Given the description of an element on the screen output the (x, y) to click on. 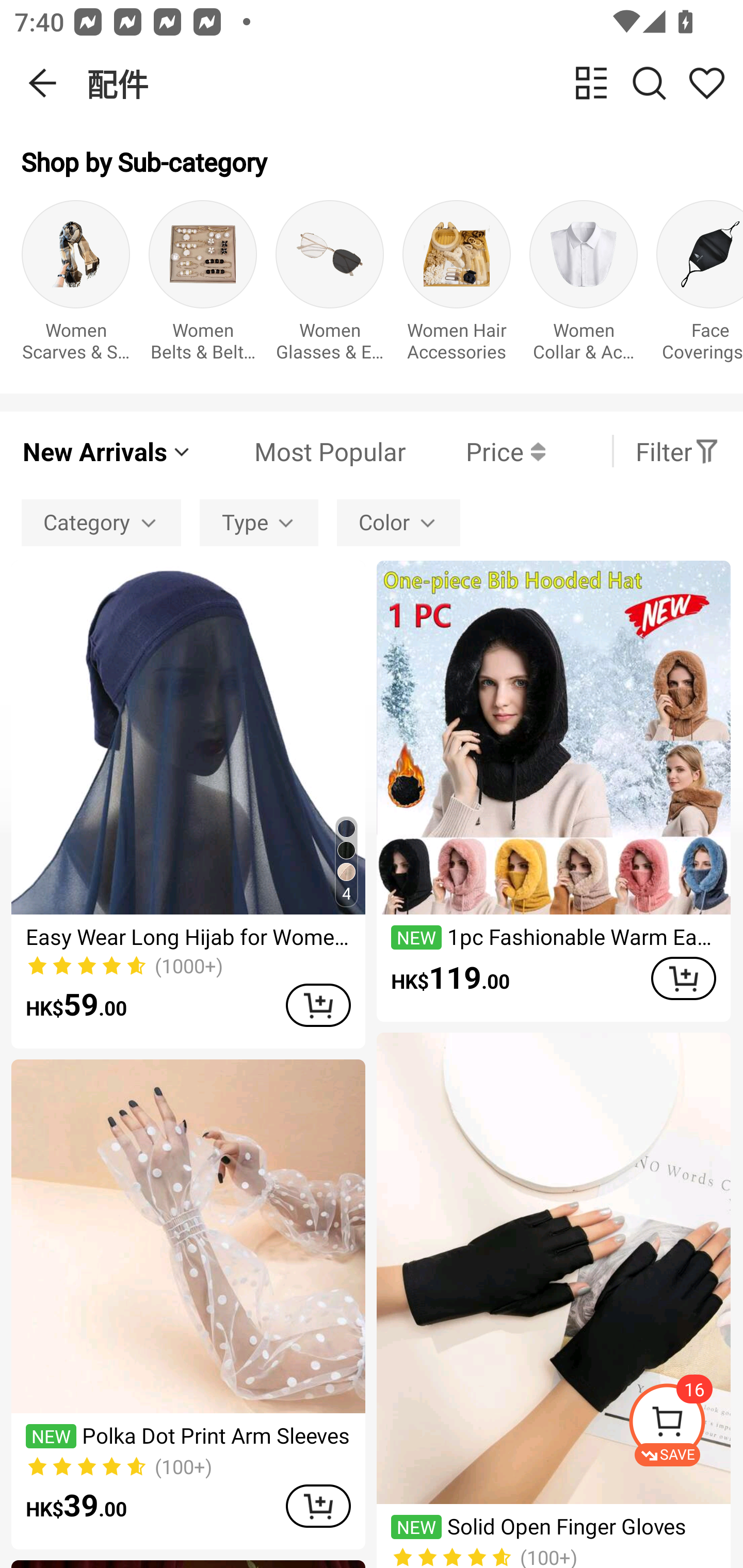
配件 change view Search Share (414, 82)
change view (591, 82)
Search (648, 82)
Share (706, 82)
Women Scarves & Scarf Accessories (75, 285)
Women Belts & Belts Accessories (202, 285)
Women Glasses & Eyewear Accessories (329, 285)
Women Hair Accessories (456, 285)
Women Collar & Accessories (583, 285)
Face Coverings & Accs (699, 285)
New Arrivals (107, 450)
Most Popular (299, 450)
Price (475, 450)
Filter (677, 450)
Category (101, 521)
Type (258, 521)
Color (397, 521)
ADD TO CART (683, 978)
ADD TO CART (318, 1005)
SAVE (685, 1424)
ADD TO CART (318, 1505)
